Given the description of an element on the screen output the (x, y) to click on. 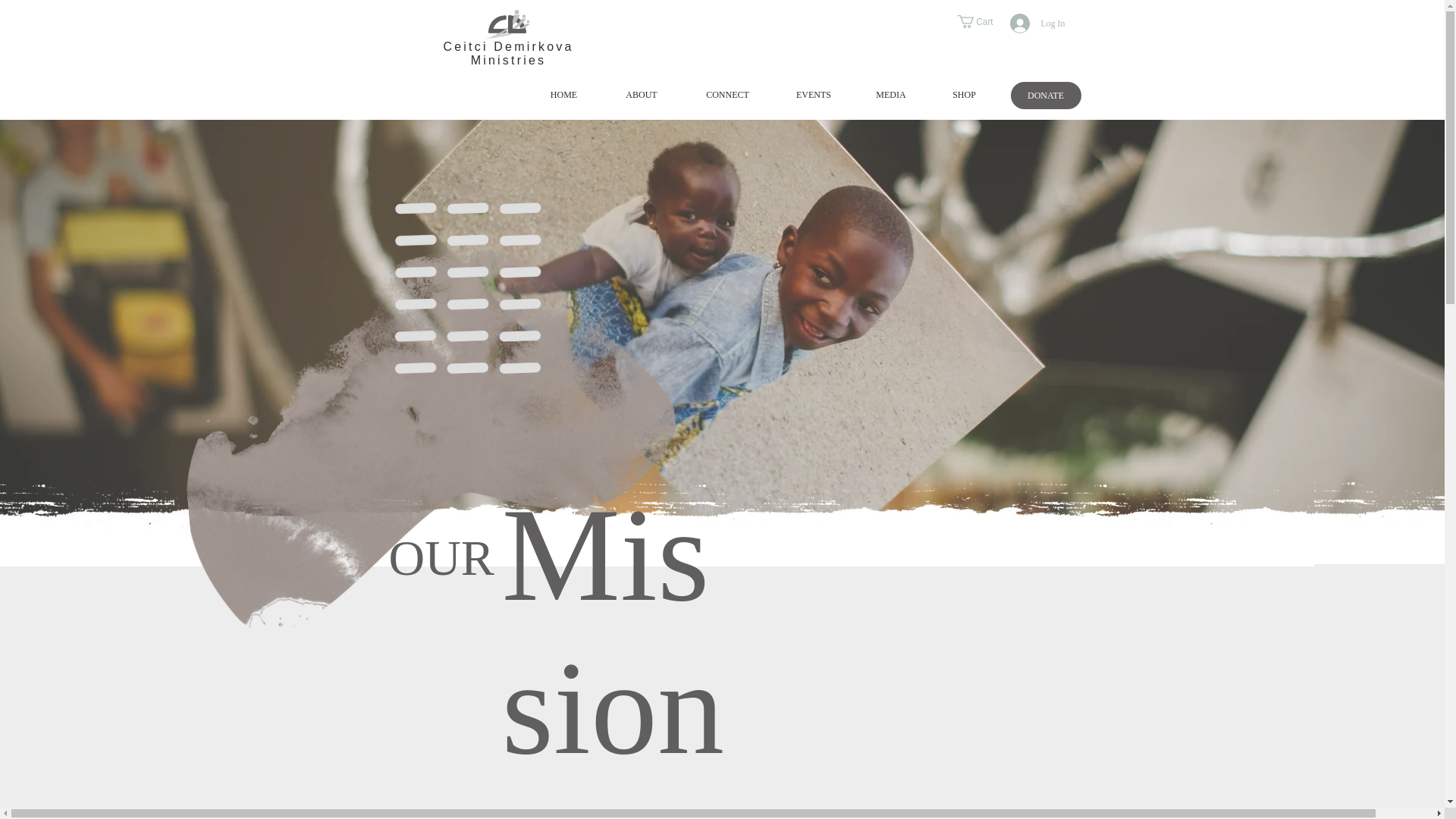
EVENTS (813, 94)
Cart (981, 21)
SHOP (963, 94)
CONNECT (727, 94)
Ceitci Demirkova (507, 46)
DONATE (1045, 94)
Log In (1036, 23)
HOME (563, 94)
Cart (981, 21)
